Given the description of an element on the screen output the (x, y) to click on. 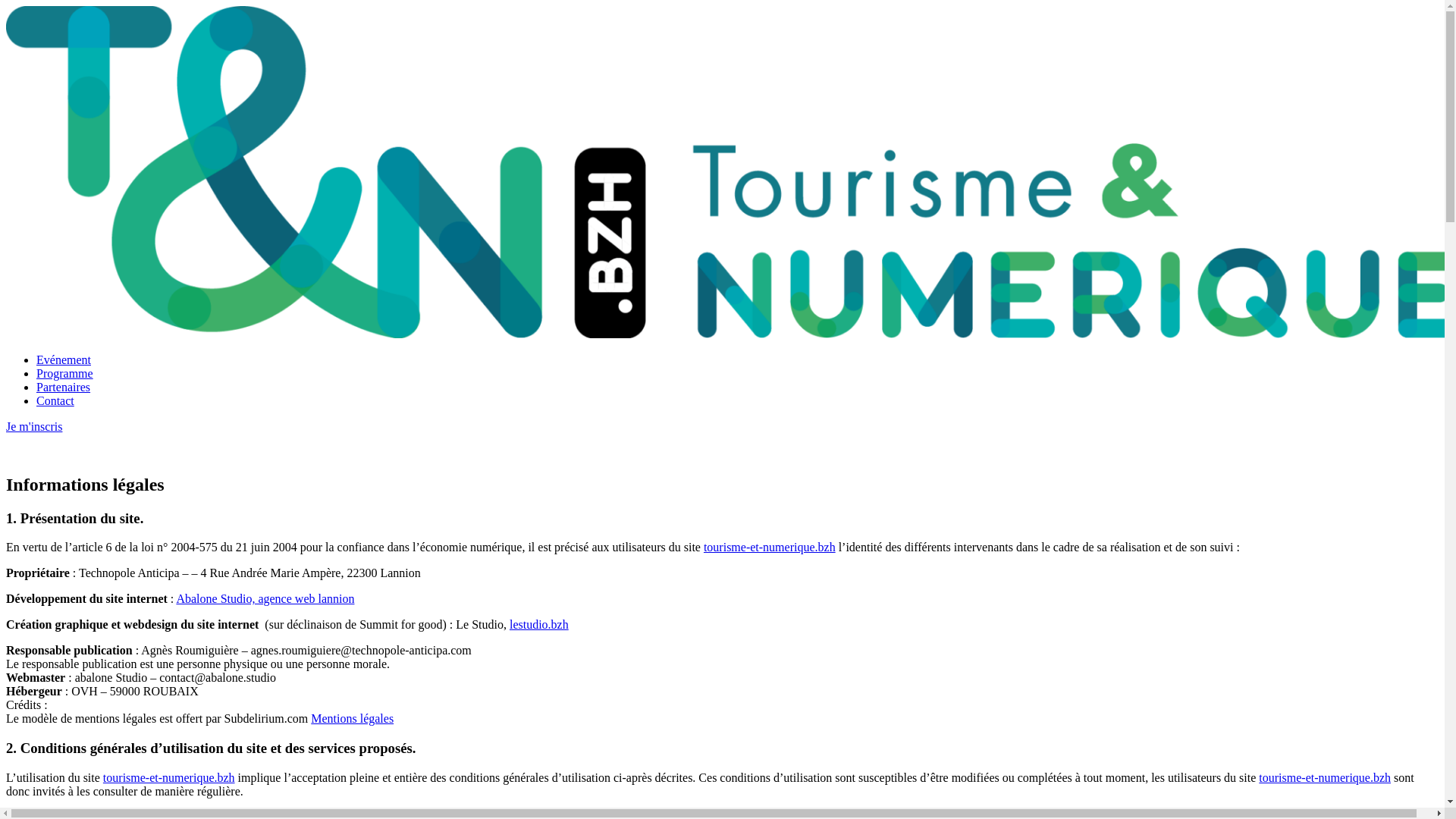
tourisme-et-numerique.bzh Element type: text (1324, 777)
lestudio.bzh Element type: text (538, 624)
Partenaires Element type: text (63, 386)
tourisme-et-numerique.bzh Element type: text (169, 777)
Programme Element type: text (64, 373)
tourisme-et-numerique.bzh Element type: text (769, 546)
Je m'inscris Element type: text (34, 426)
Contact Element type: text (55, 400)
Abalone Studio, agence web lannion Element type: text (264, 598)
